Given the description of an element on the screen output the (x, y) to click on. 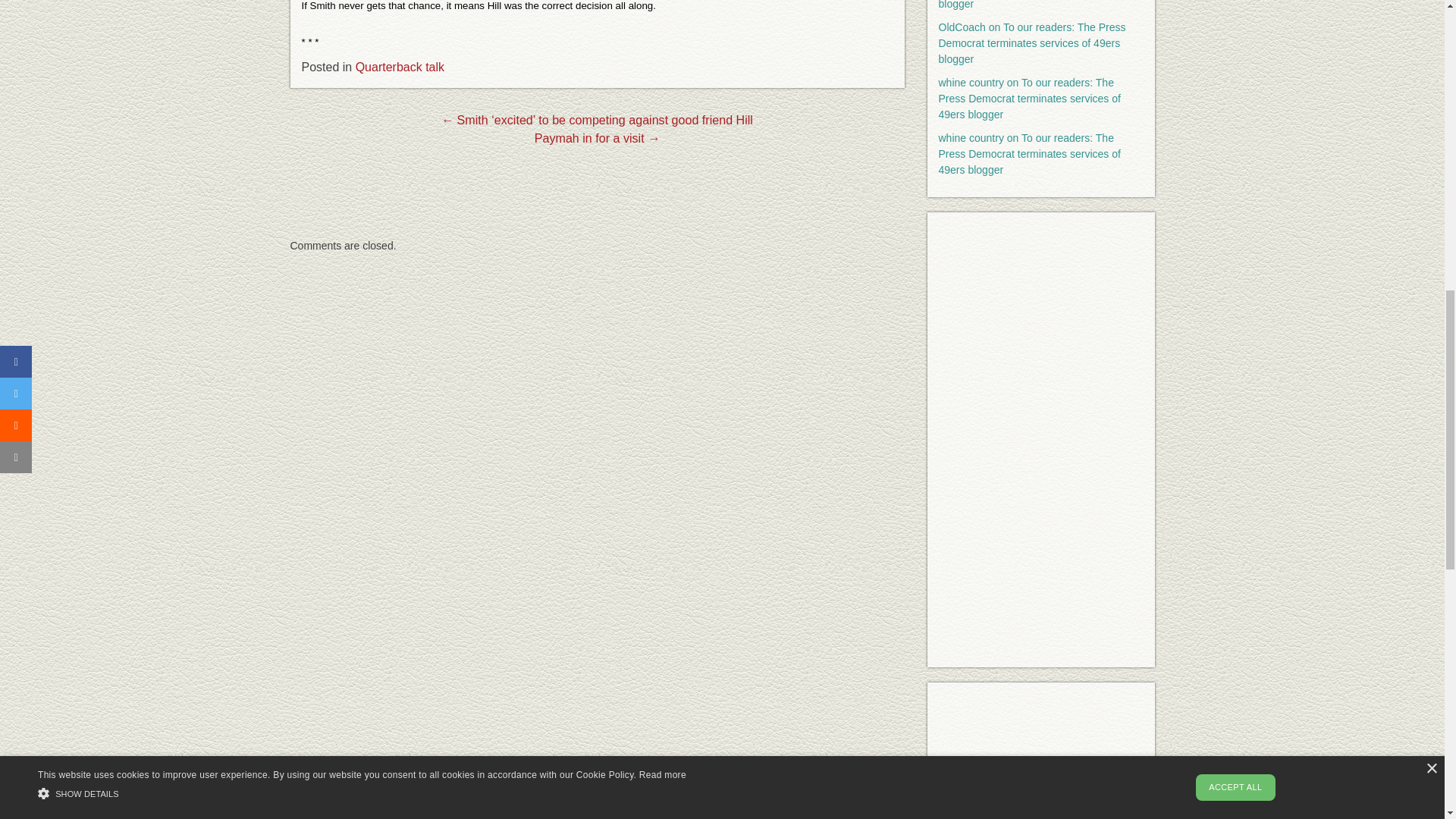
Quarterback talk (399, 66)
3rd party ad content (1040, 750)
3rd party ad content (597, 203)
